Given the description of an element on the screen output the (x, y) to click on. 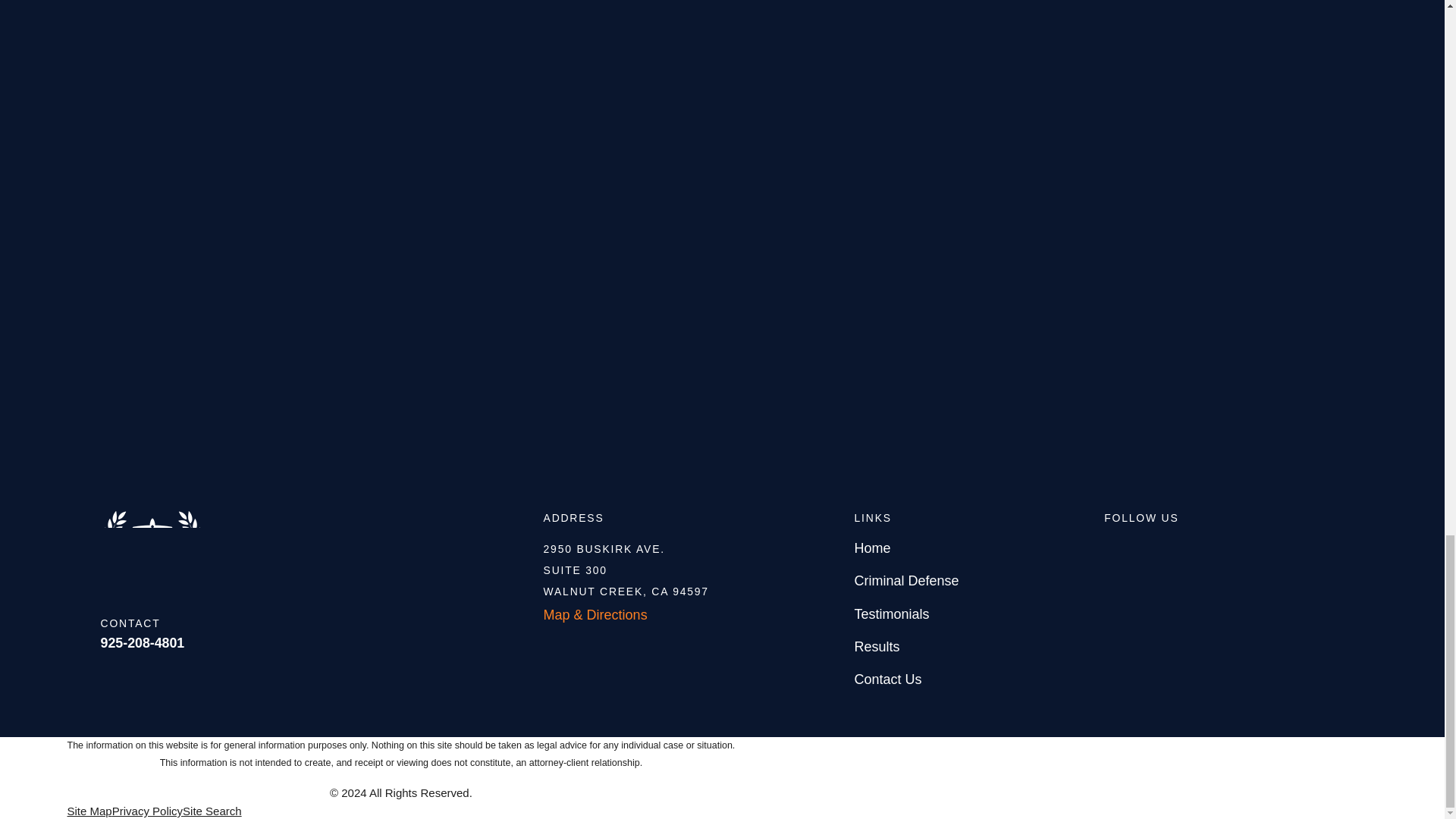
Twitter (1245, 547)
Yelp (1157, 547)
Home (321, 546)
Avvo (1112, 547)
LinkedIn (1201, 547)
